Given the description of an element on the screen output the (x, y) to click on. 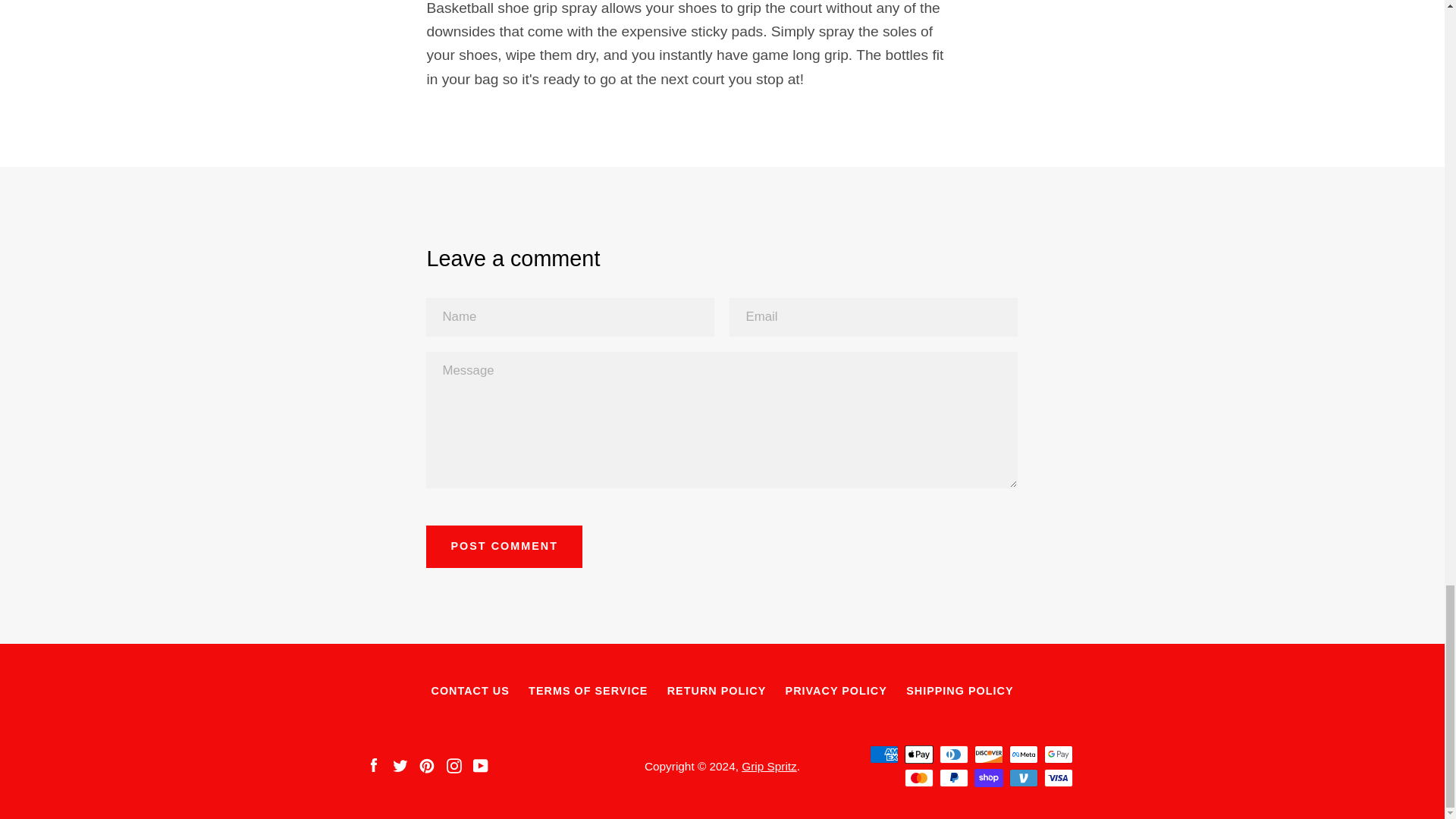
Grip Spritz on YouTube (480, 765)
Grip Spritz on Twitter (400, 765)
Mastercard (918, 778)
Google Pay (1057, 754)
Discover (988, 754)
Grip Spritz on Instagram (453, 765)
Visa (1057, 778)
Grip Spritz on Facebook (372, 765)
PayPal (953, 778)
Shop Pay (988, 778)
TERMS OF SERVICE (587, 690)
PRIVACY POLICY (836, 690)
American Express (883, 754)
Post comment (504, 546)
Diners Club (953, 754)
